Given the description of an element on the screen output the (x, y) to click on. 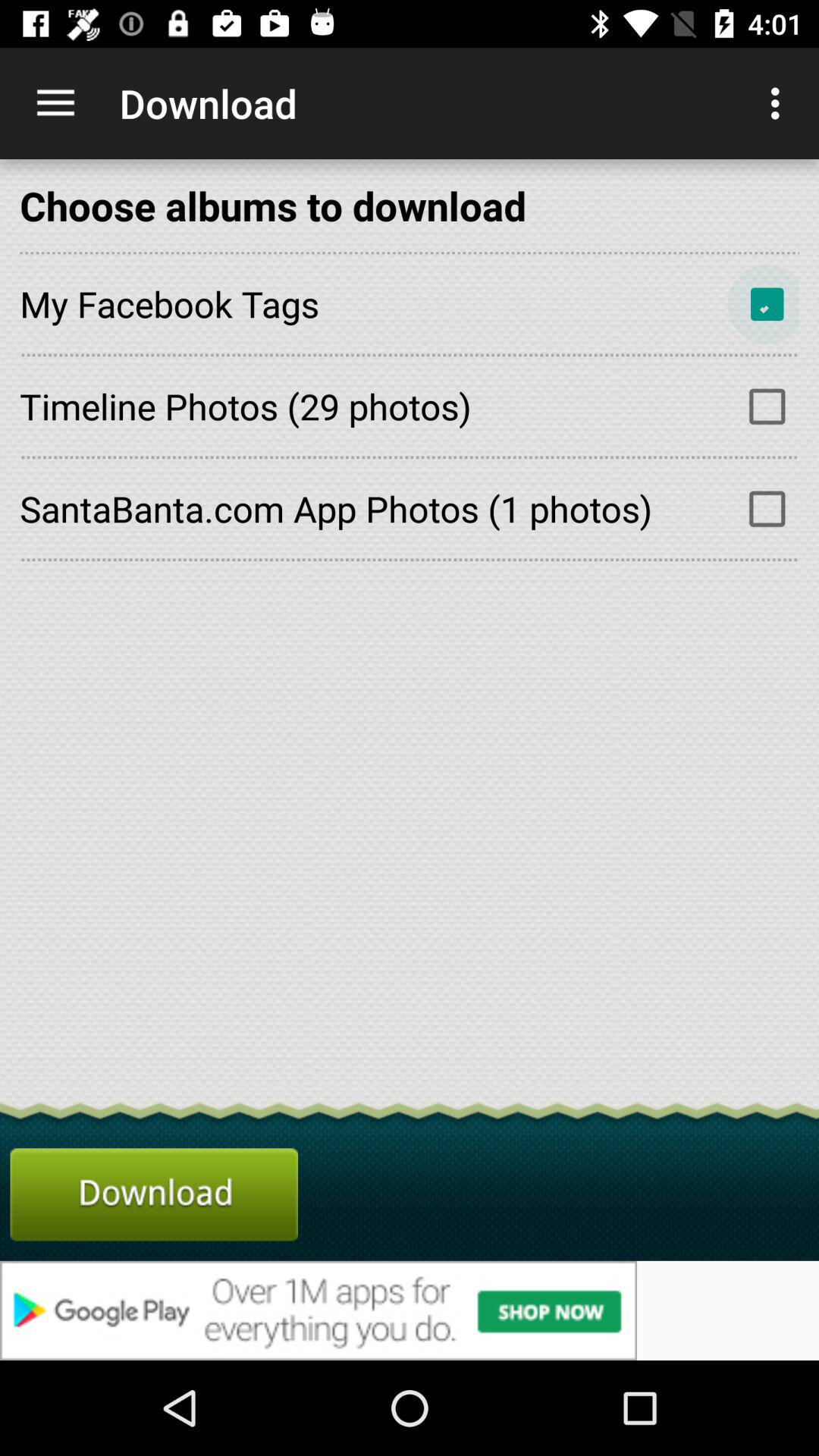
advertisement banner (409, 1310)
